Given the description of an element on the screen output the (x, y) to click on. 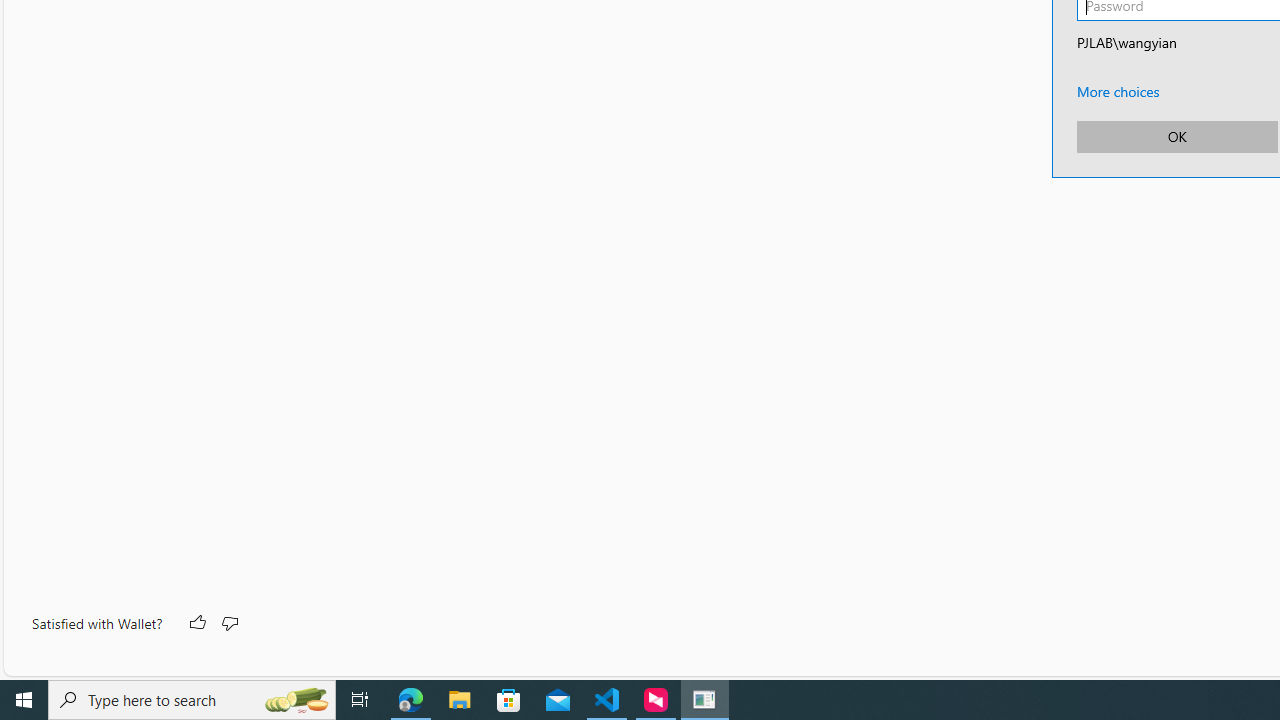
Task View (359, 699)
Microsoft Edge - 1 running window (411, 699)
Search highlights icon opens search home window (295, 699)
Type here to search (191, 699)
Like (196, 623)
File Explorer (460, 699)
Visual Studio Code - 1 running window (607, 699)
More choices (1117, 91)
Credential Manager UI Host - 1 running window (704, 699)
Microsoft Store (509, 699)
OK (1176, 136)
Dislike (228, 623)
